Given the description of an element on the screen output the (x, y) to click on. 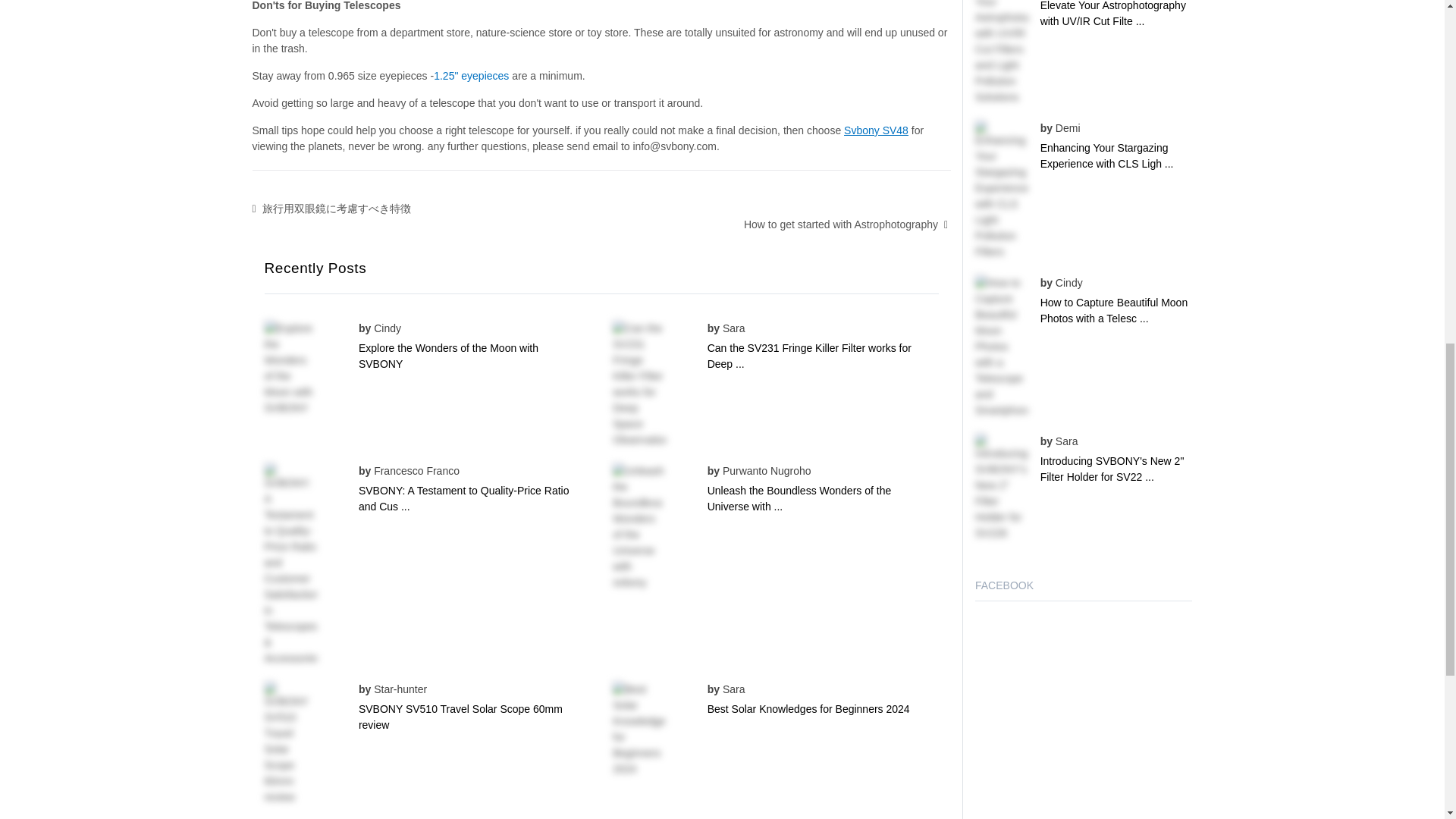
Svbony SV48 astronomy telescope (876, 130)
How to get started with Astrophotography (840, 224)
Svbony 1.25inch eyepieces (470, 75)
